Given the description of an element on the screen output the (x, y) to click on. 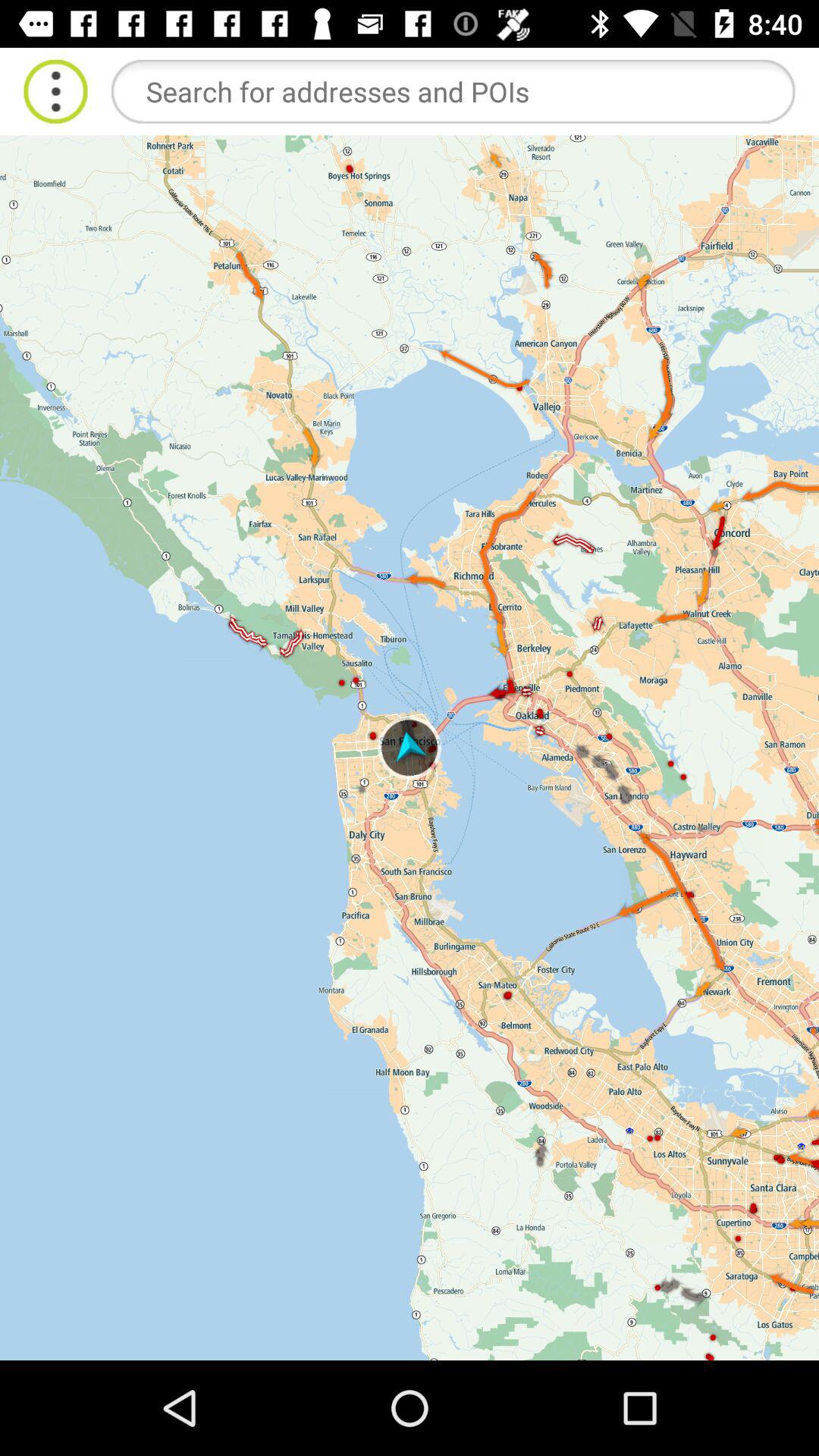
enter address (453, 91)
